Given the description of an element on the screen output the (x, y) to click on. 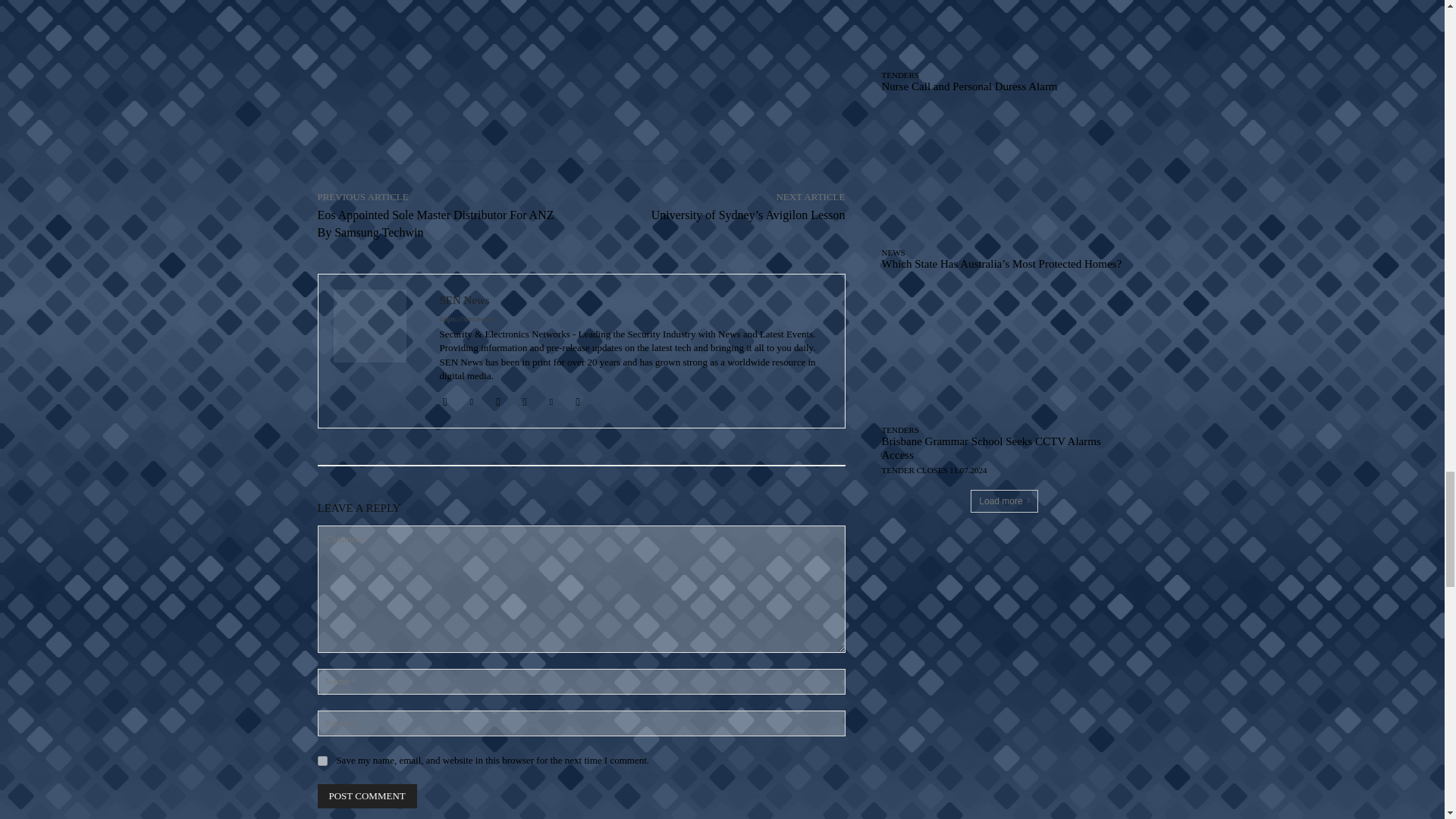
yes (321, 760)
Post Comment (366, 795)
